Given the description of an element on the screen output the (x, y) to click on. 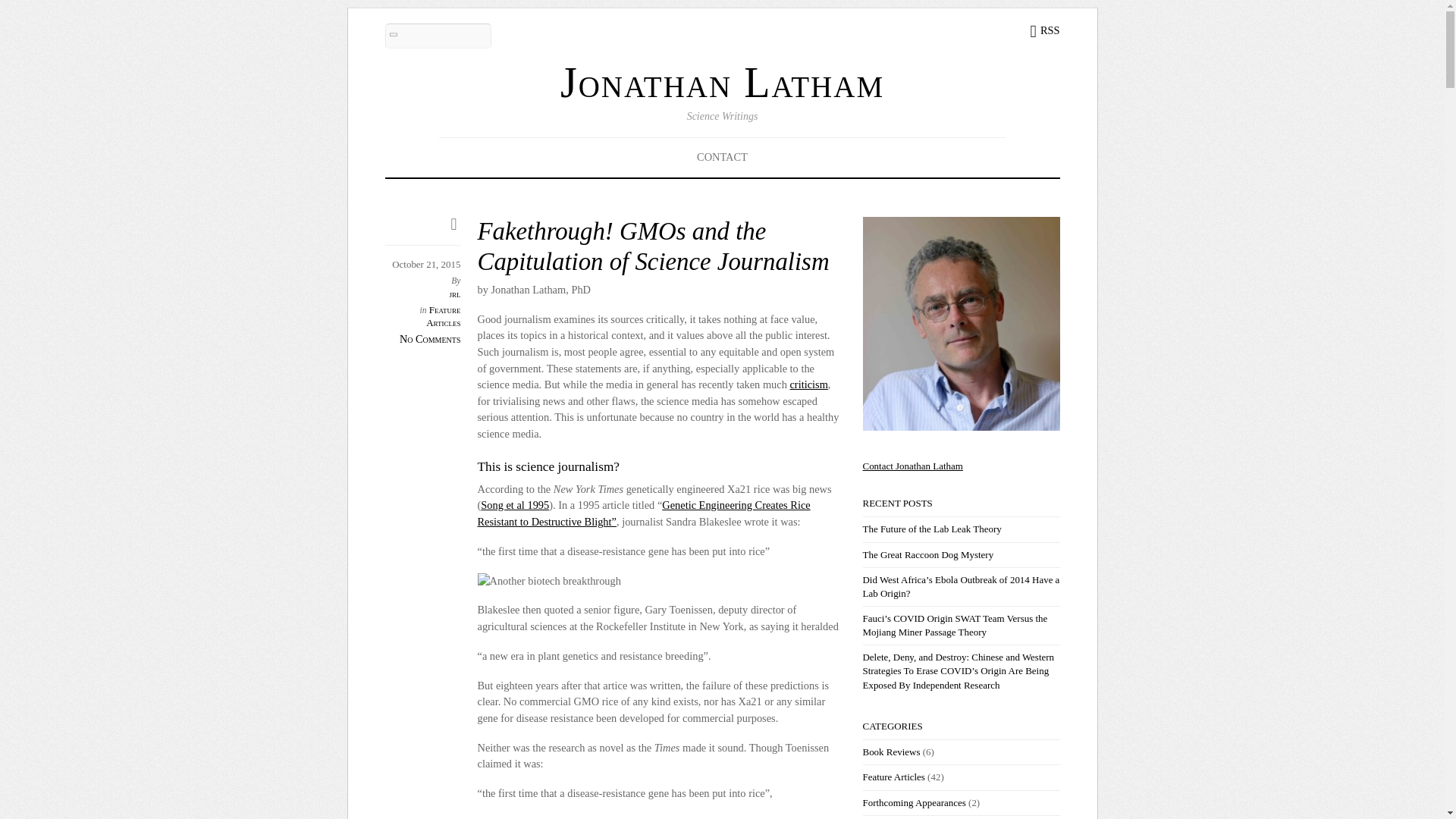
CONTACT (722, 156)
Song et al 1995 (514, 504)
Feature Articles (443, 315)
jrl (454, 293)
RSS (1044, 30)
No Comments (429, 338)
Search (438, 35)
Fakethrough! GMOs and the Capitulation of Science Journalism (653, 245)
Jonathan Latham (721, 82)
Jonathan Latham (721, 82)
